Given the description of an element on the screen output the (x, y) to click on. 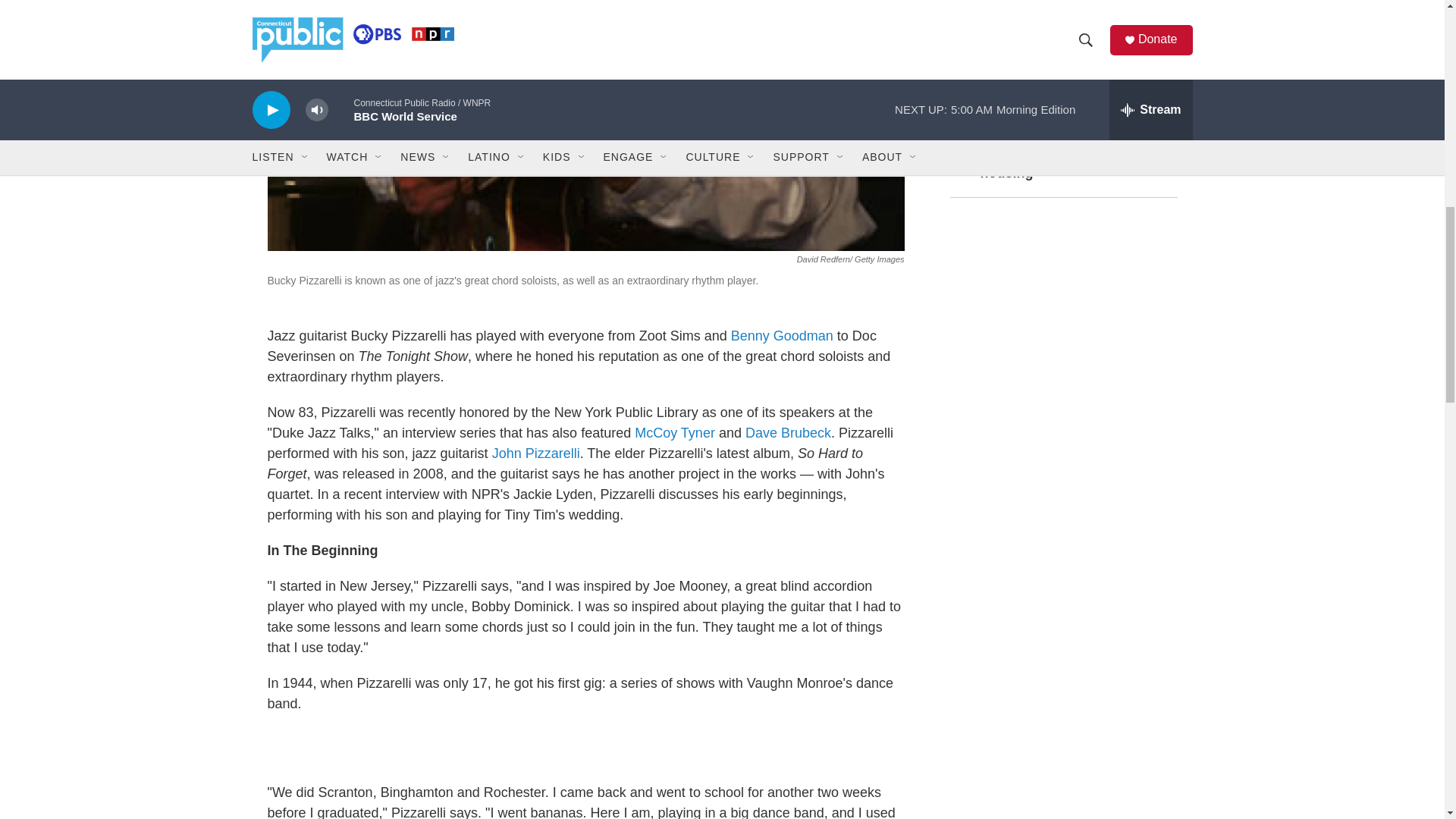
3rd party ad content (1062, 542)
3rd party ad content (1062, 743)
3rd party ad content (1062, 322)
3rd party ad content (585, 748)
